Given the description of an element on the screen output the (x, y) to click on. 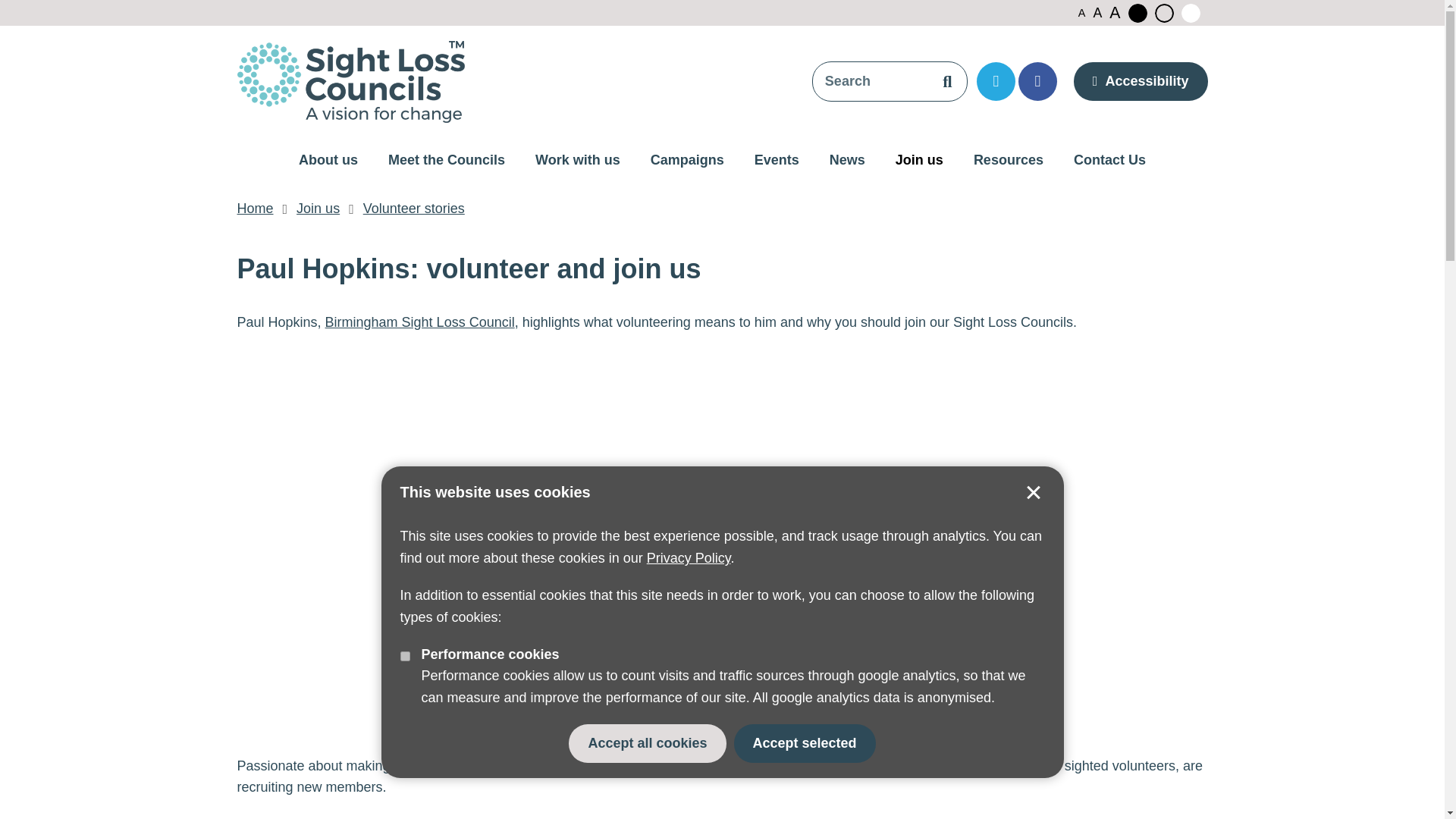
Skip to content (18, 9)
stats (405, 655)
Accept selected (804, 742)
Meet the Councils (445, 160)
Privacy Policy (688, 557)
Accept selected (1033, 492)
Normal contrast (1163, 13)
Find us on Facebook (1037, 81)
About us (327, 160)
